Given the description of an element on the screen output the (x, y) to click on. 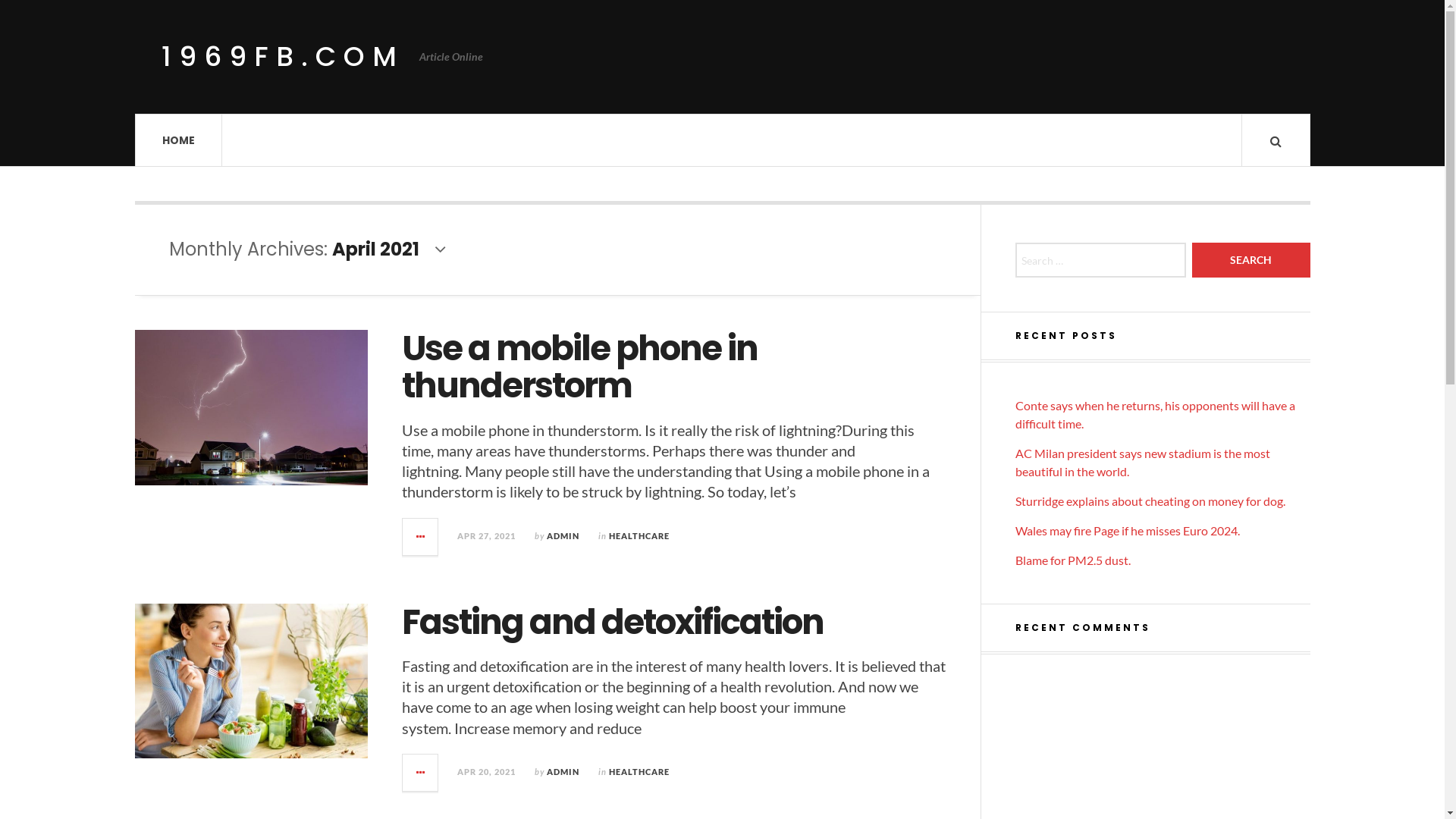
HEALTHCARE Element type: text (638, 771)
Fasting and detoxification Element type: text (612, 622)
Wales may fire Page if he misses Euro 2024. Element type: text (1126, 530)
Blame for PM2.5 dust. Element type: text (1071, 559)
Sturridge explains about cheating on money for dog. Element type: text (1149, 500)
HEALTHCARE Element type: text (638, 535)
1969FB.COM Element type: text (281, 56)
ADMIN Element type: text (562, 535)
Search Element type: text (1251, 259)
Read More... Element type: hover (420, 536)
HOME Element type: text (178, 140)
Read More... Element type: hover (420, 772)
ADMIN Element type: text (562, 771)
Use a mobile phone in thunderstorm Element type: text (579, 367)
